Given the description of an element on the screen output the (x, y) to click on. 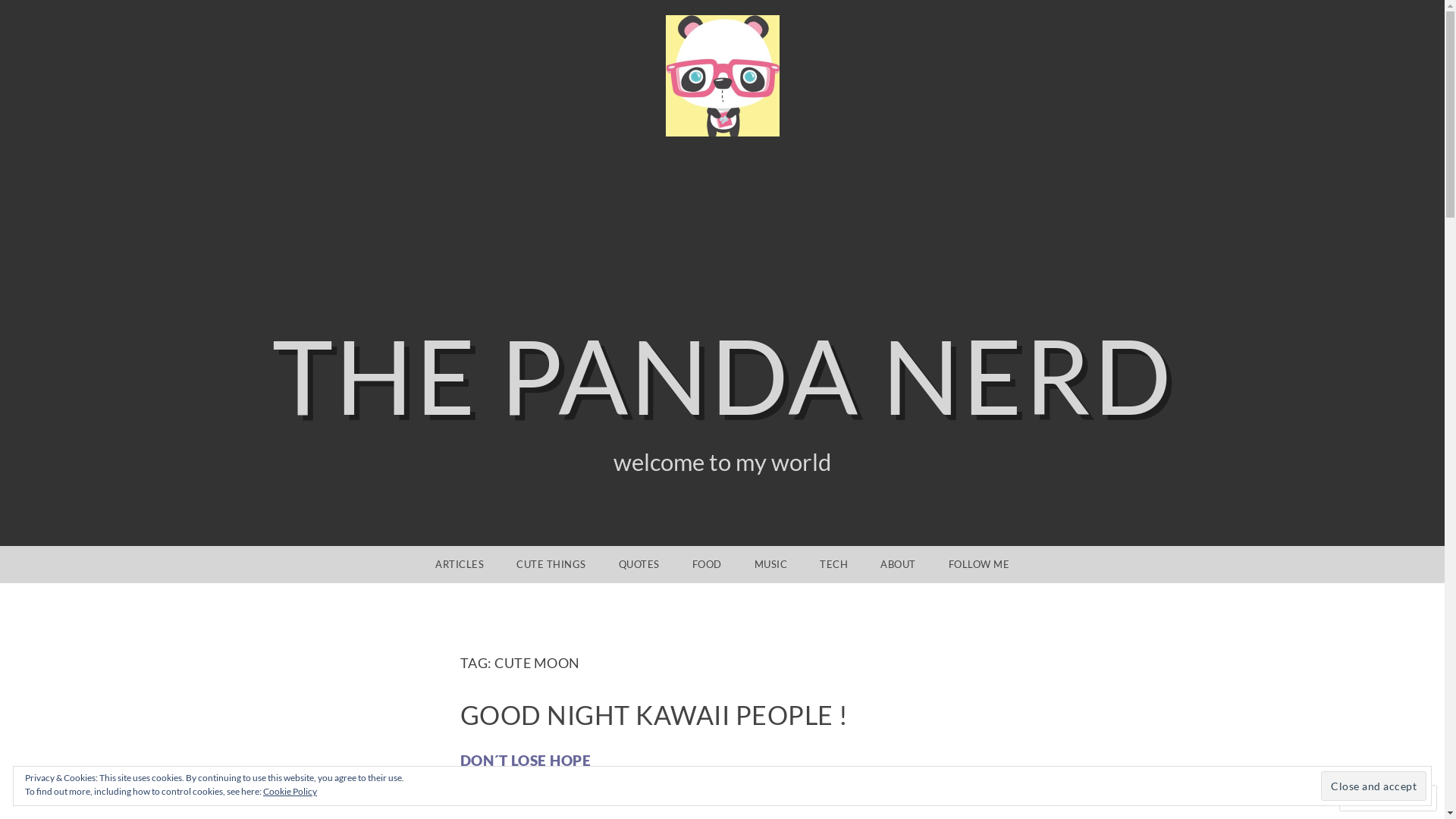
GOOD NIGHT KAWAII PEOPLE ! Element type: text (654, 714)
TECH Element type: text (833, 564)
FOLLOW ME Element type: text (978, 564)
Cookie Policy Element type: text (289, 791)
CUTE THINGS Element type: text (551, 564)
Follow Element type: text (1373, 797)
FOOD Element type: text (706, 564)
ARTICLES Element type: text (459, 564)
QUOTES Element type: text (638, 564)
Search Element type: text (32, 12)
SKIP TO CONTENT Element type: text (61, 564)
THE PANDA NERD Element type: text (721, 374)
MUSIC Element type: text (770, 564)
ABOUT Element type: text (898, 564)
Close and accept Element type: text (1373, 785)
